Given the description of an element on the screen output the (x, y) to click on. 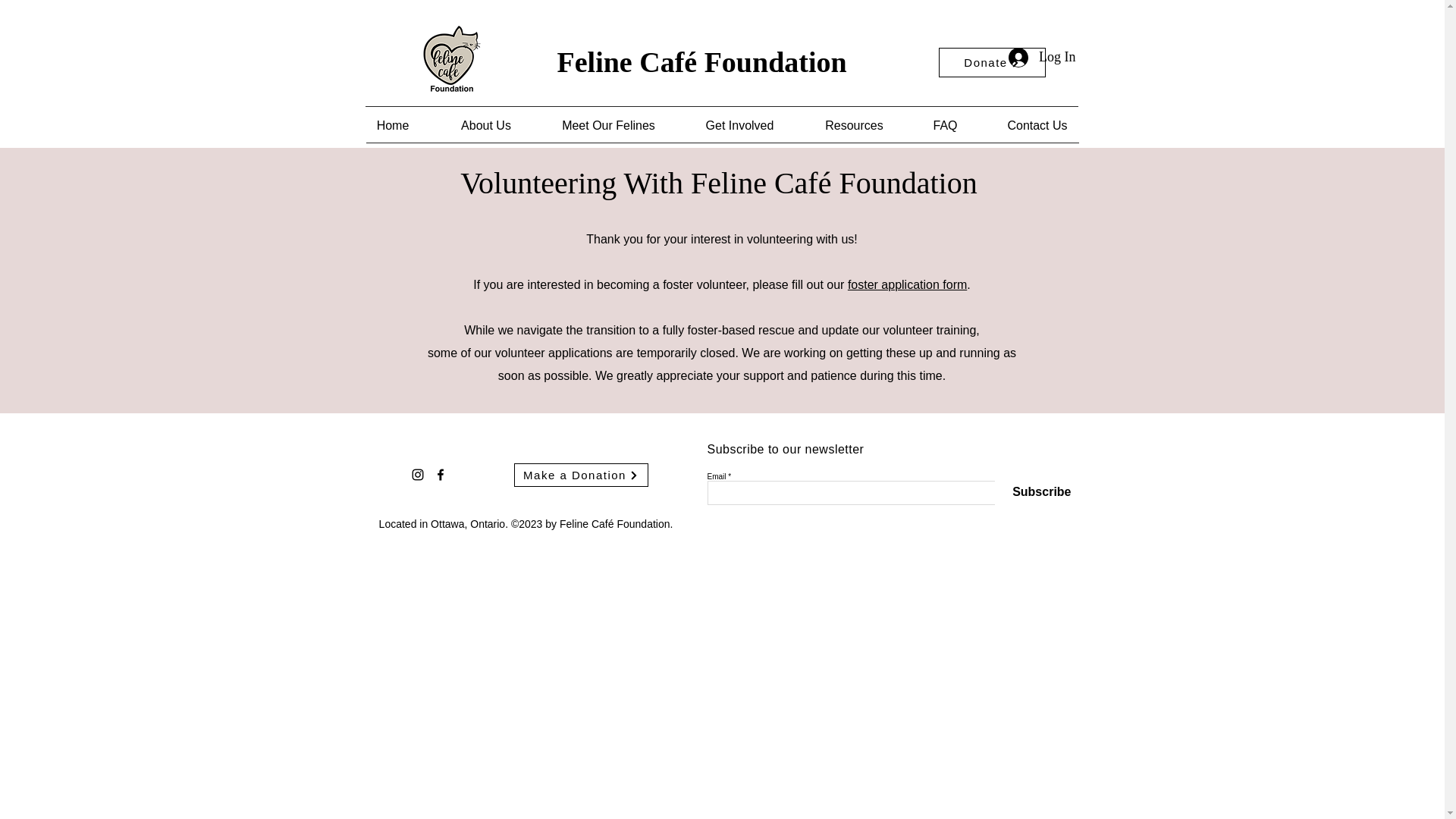
FAQ (944, 124)
Contact Us (1037, 124)
About Us (486, 124)
Subscribe (1032, 491)
Home (391, 124)
Donate (992, 61)
Make a Donation (580, 474)
Log In (1041, 57)
foster application form (906, 284)
